Given the description of an element on the screen output the (x, y) to click on. 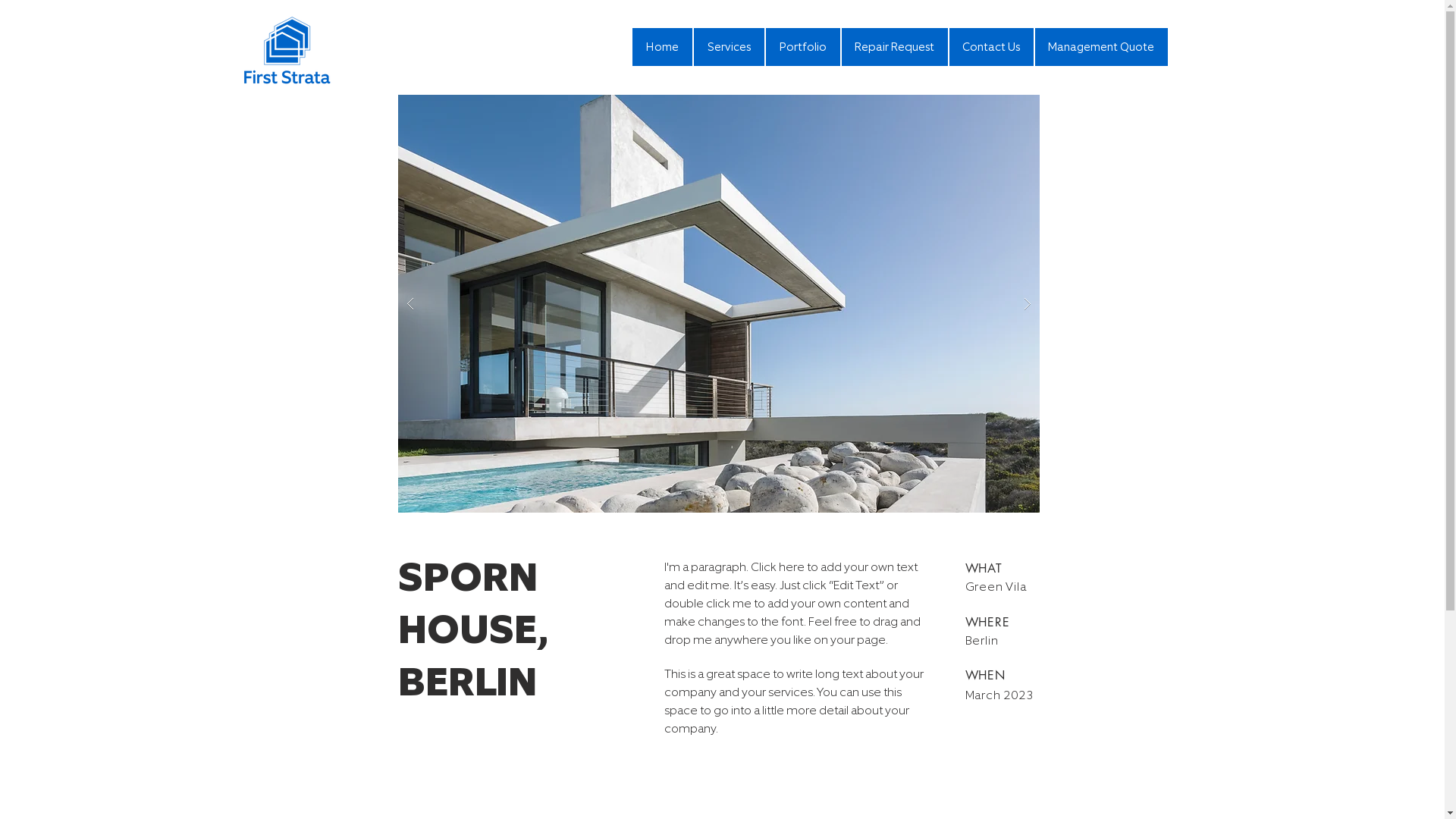
Management Quote Element type: text (1100, 46)
Home Element type: text (662, 46)
Contact Us Element type: text (991, 46)
Repair Request Element type: text (894, 46)
Portfolio Element type: text (802, 46)
Services Element type: text (728, 46)
